Given the description of an element on the screen output the (x, y) to click on. 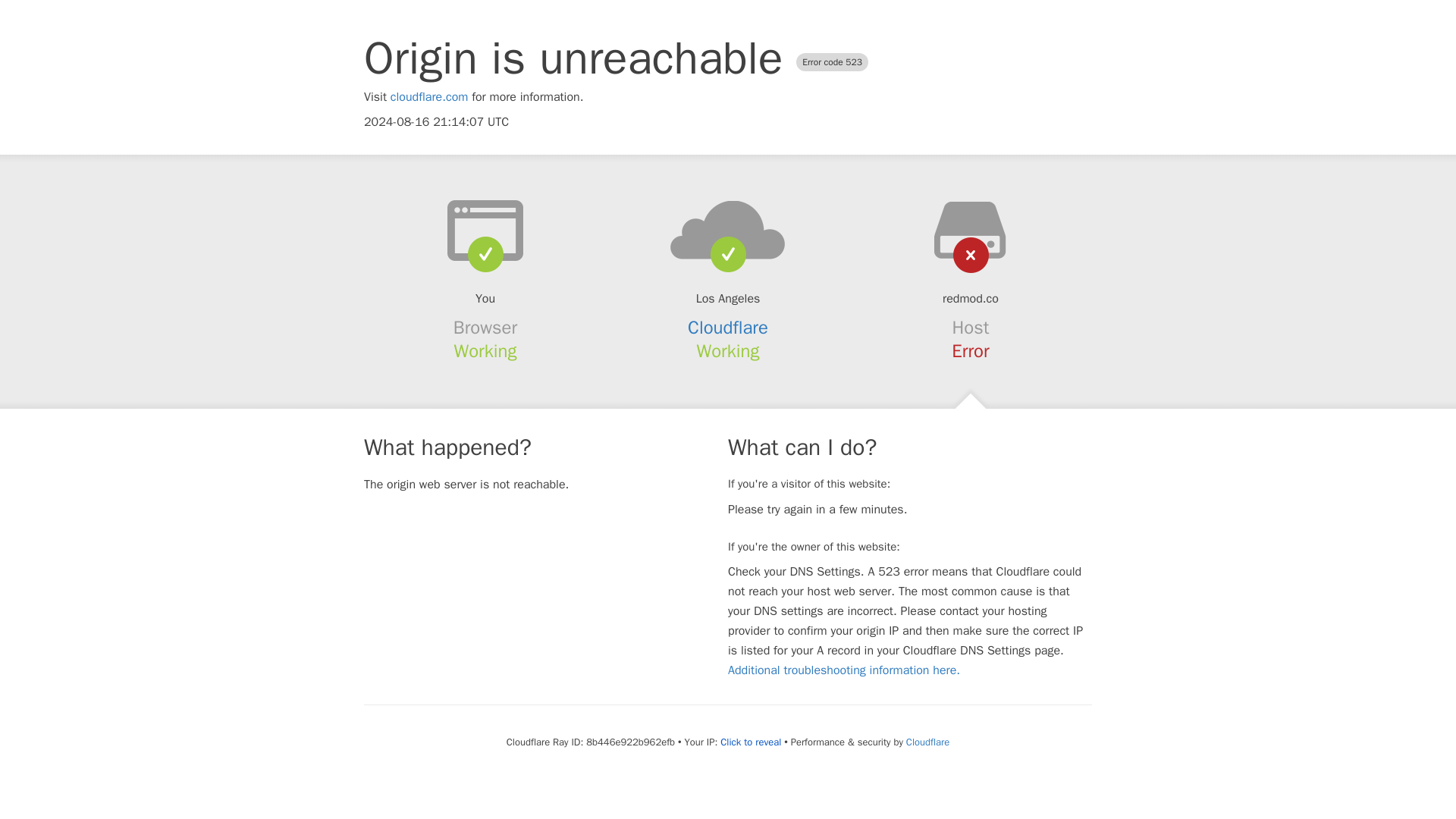
Cloudflare (927, 741)
Cloudflare (727, 327)
cloudflare.com (429, 96)
Click to reveal (750, 742)
Additional troubleshooting information here. (843, 670)
